Given the description of an element on the screen output the (x, y) to click on. 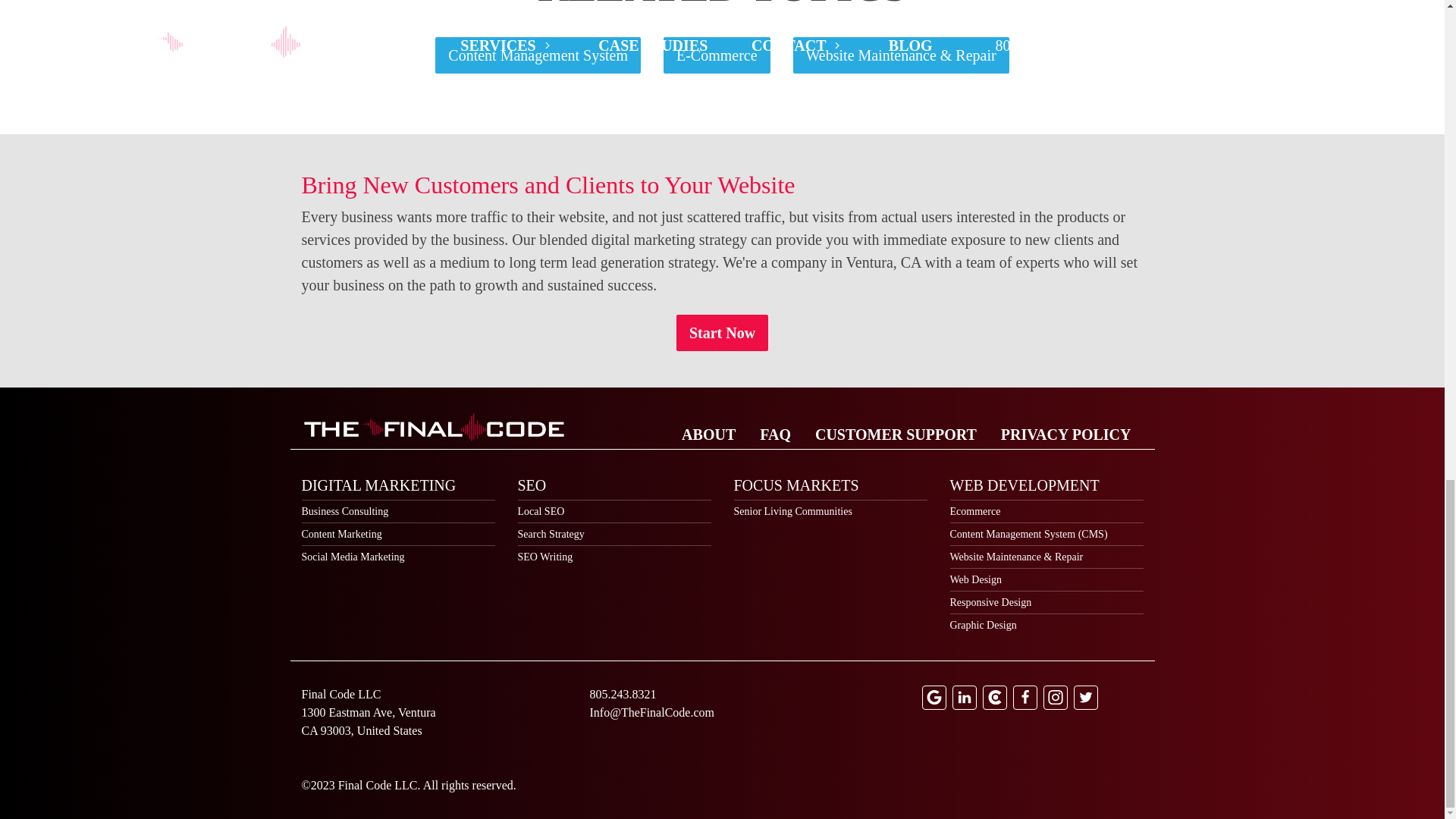
Content Management System (537, 54)
Become a client (722, 332)
TheFinalCode Clutch (994, 697)
TheFinalCode Google (933, 697)
eCommerce (716, 54)
TheFinalCode Facebook (1024, 697)
The Final Code LinkedIn (964, 697)
